Given the description of an element on the screen output the (x, y) to click on. 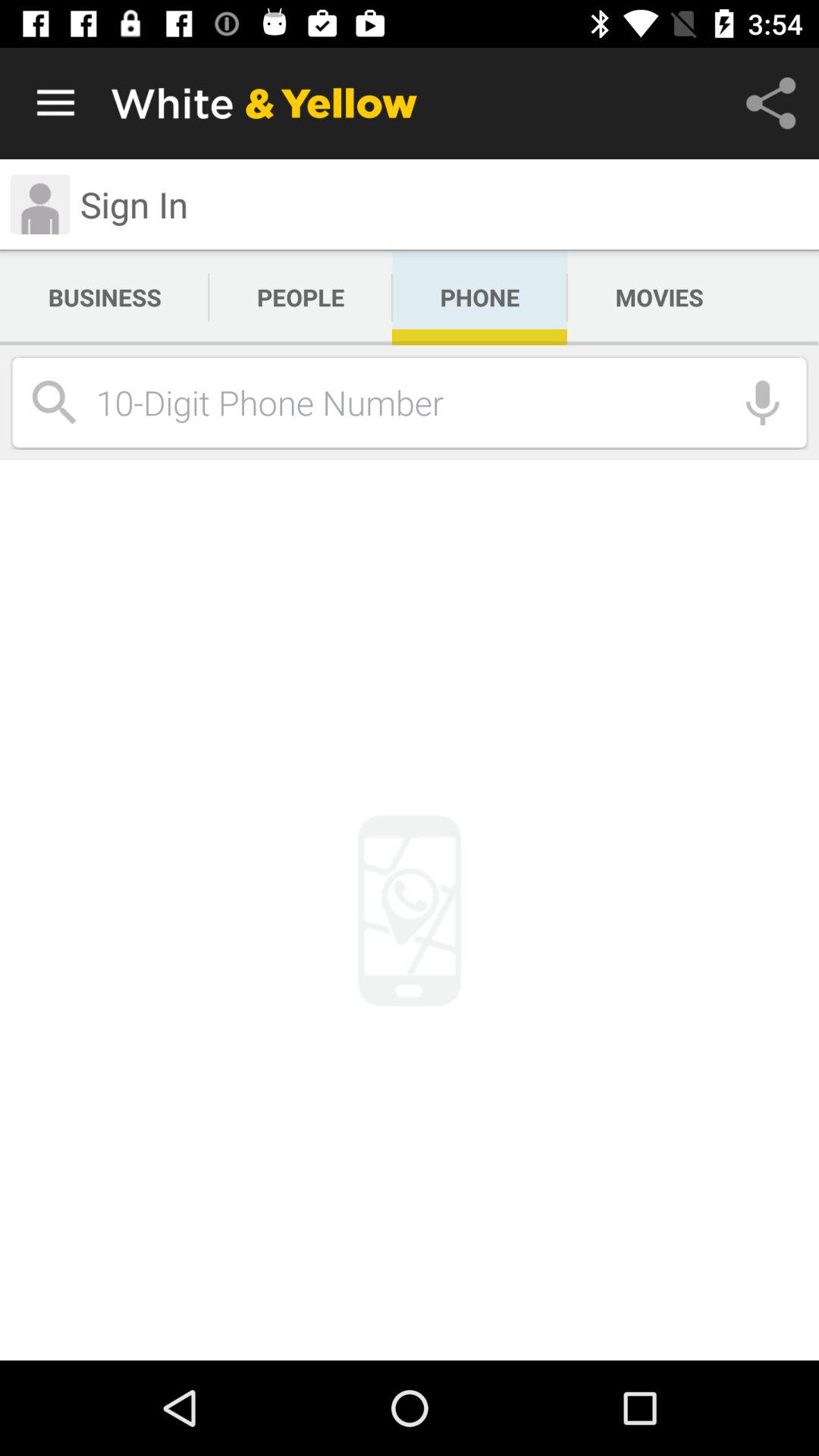
turn on the icon next to the business app (300, 297)
